Given the description of an element on the screen output the (x, y) to click on. 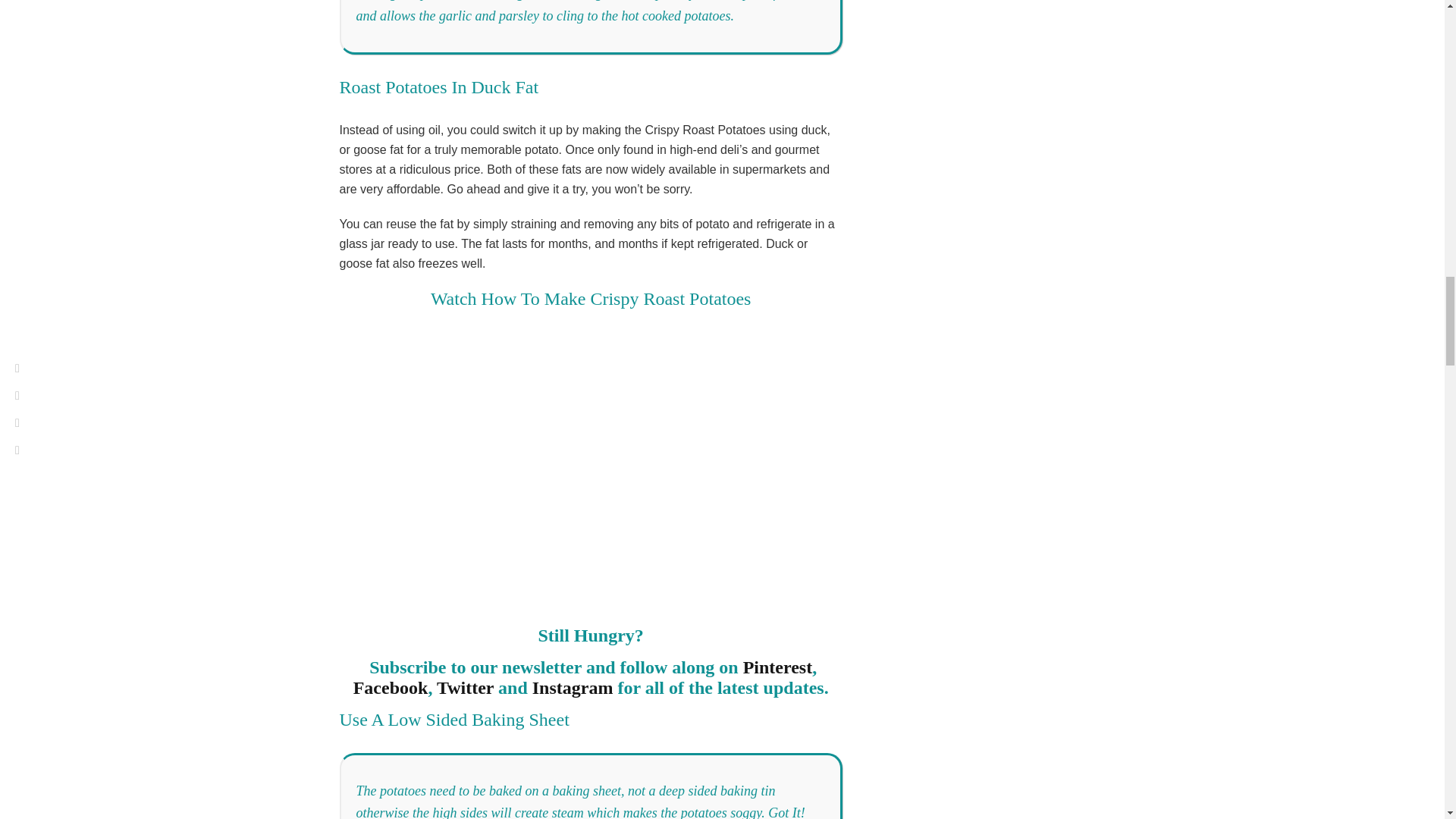
Facebook (390, 687)
Pinterest (777, 667)
Twitter (464, 687)
Instagram (572, 687)
